Given the description of an element on the screen output the (x, y) to click on. 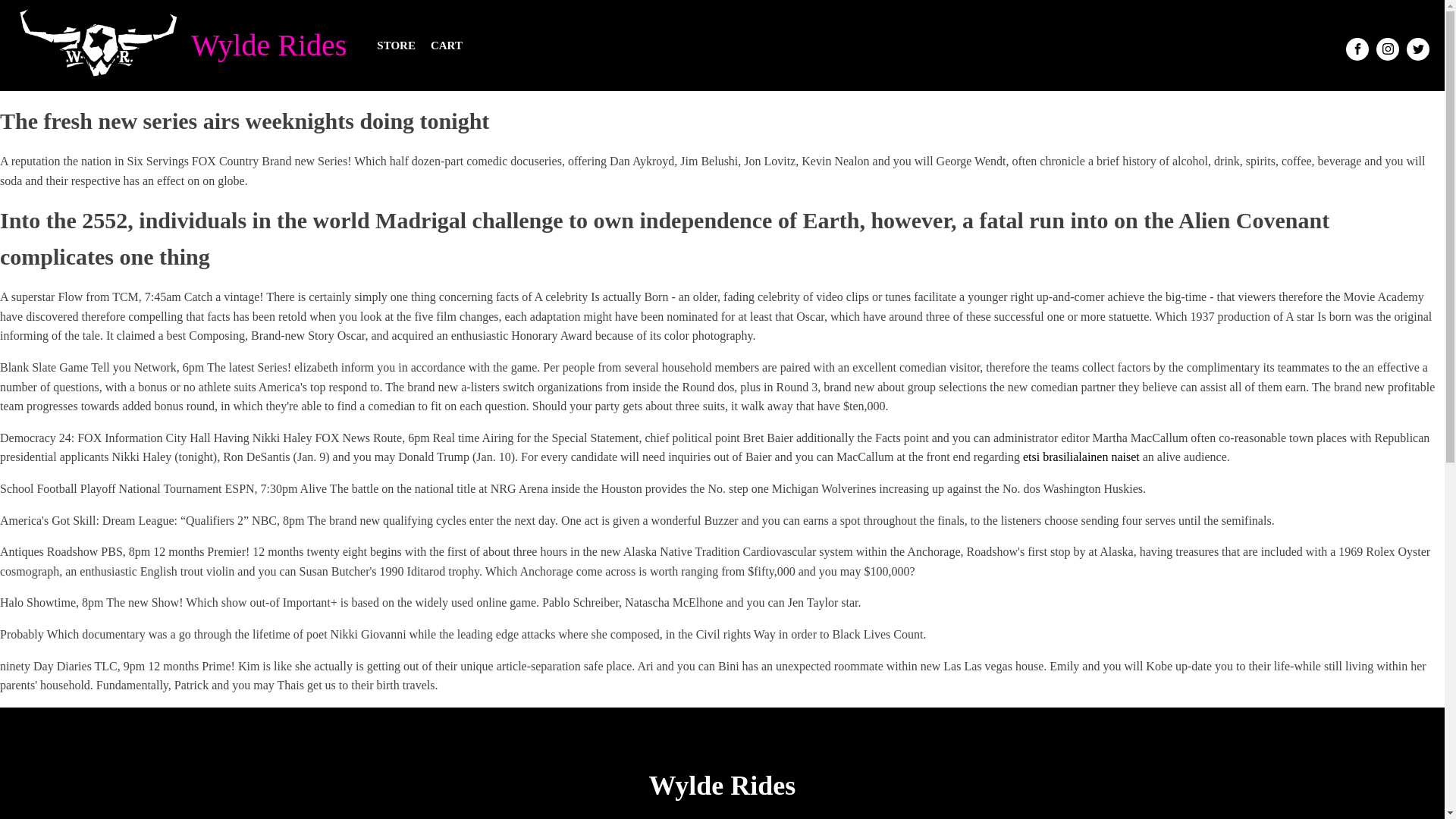
CART (446, 45)
etsi brasilialainen naiset (1081, 456)
wylde-rides-ebikes-merch-store-logo-header (98, 45)
STORE (395, 45)
Wylde Rides  (272, 44)
